Given the description of an element on the screen output the (x, y) to click on. 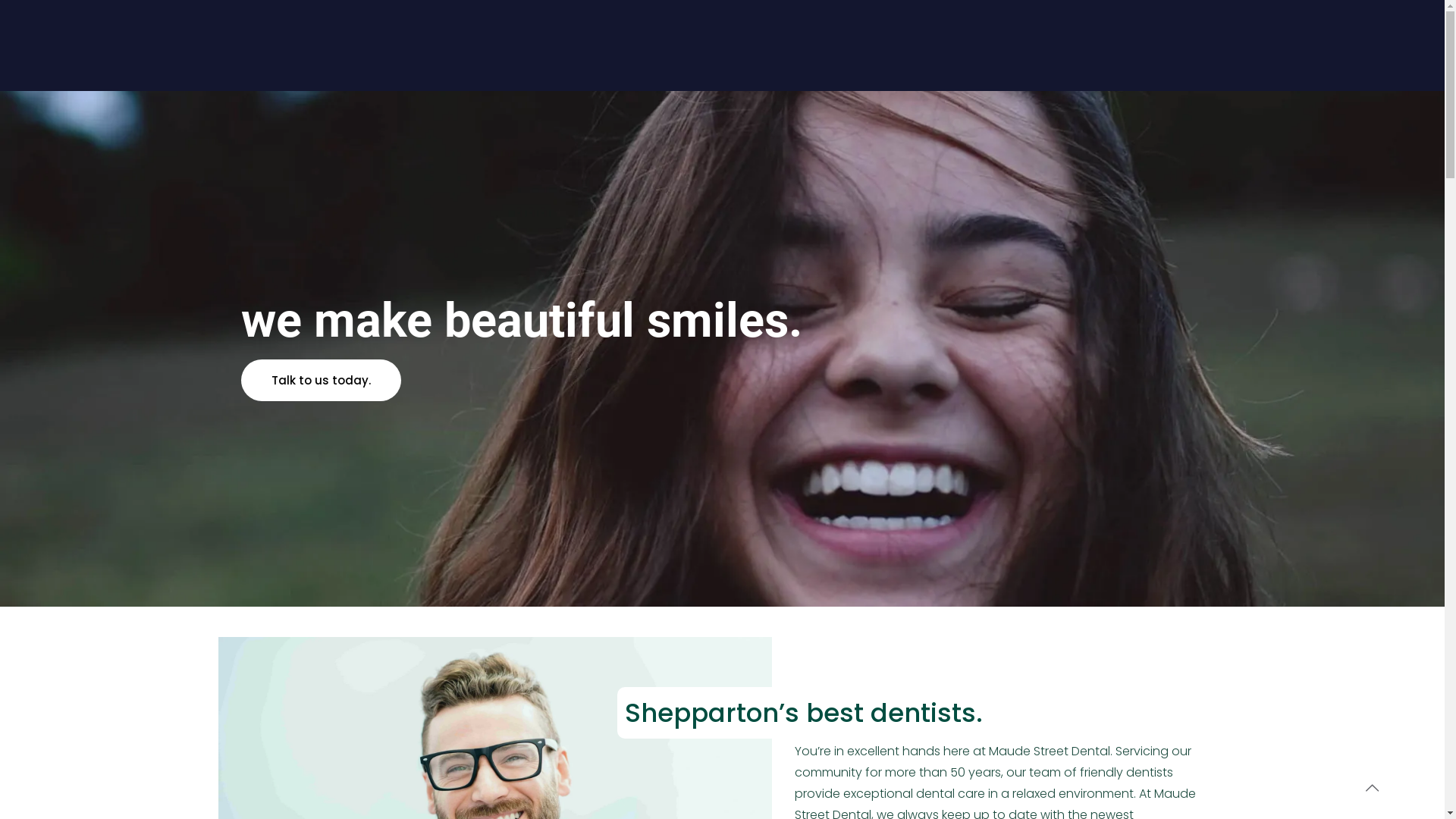
Talk to us today. Element type: text (321, 380)
